Given the description of an element on the screen output the (x, y) to click on. 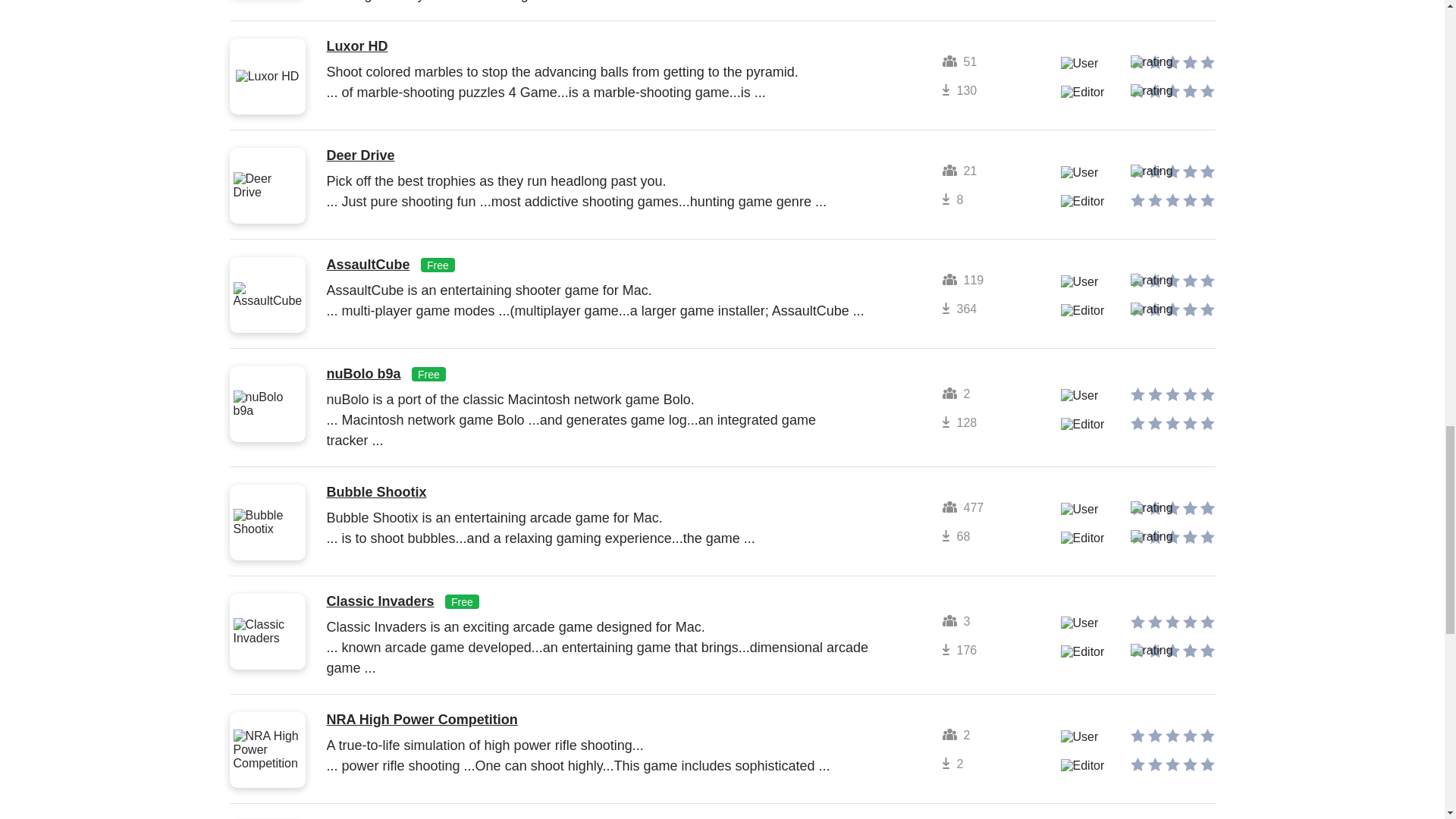
Deer Drive (360, 155)
Luxor HD (356, 46)
AssaultCube (367, 264)
